Given the description of an element on the screen output the (x, y) to click on. 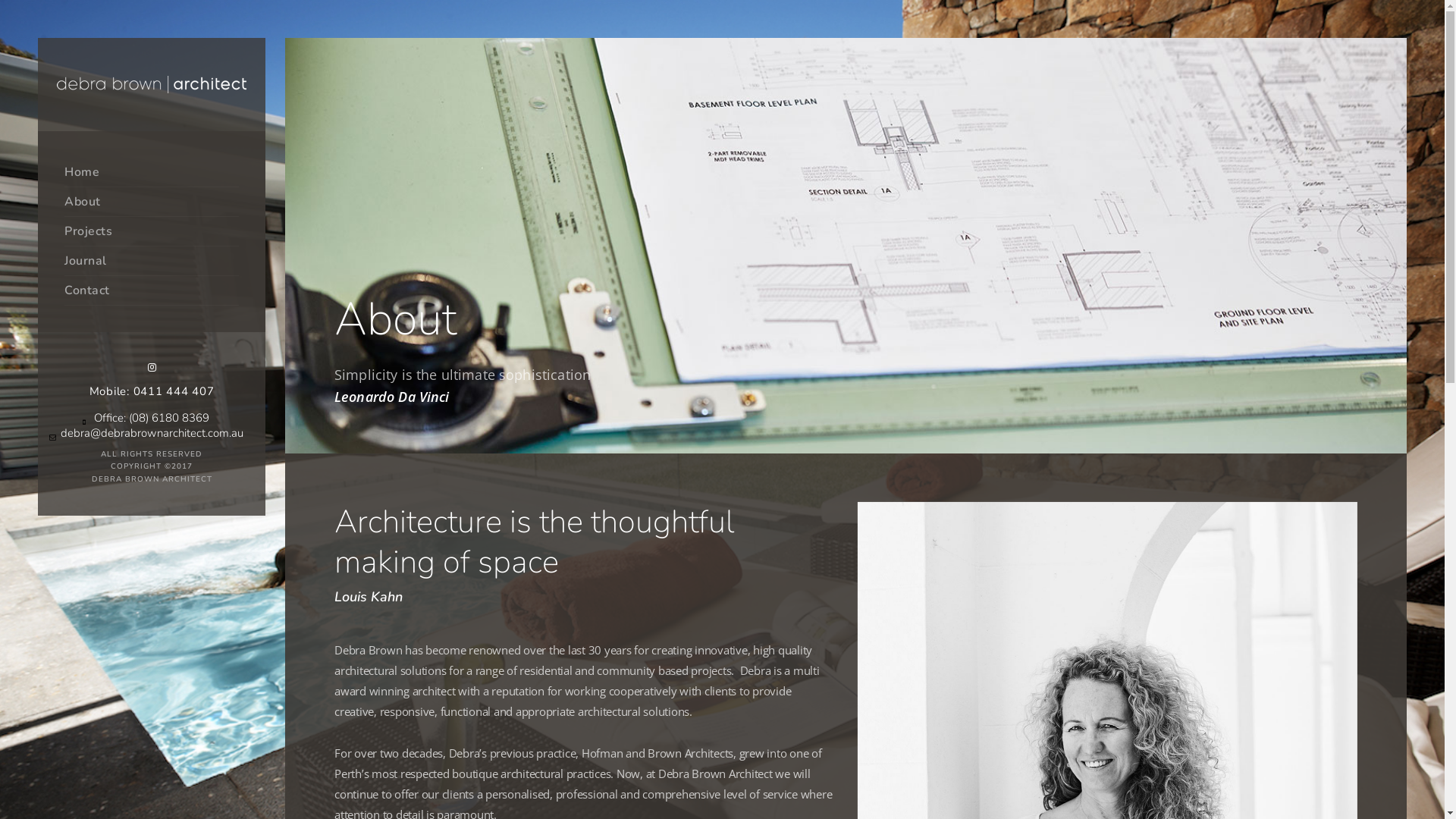
Contact Element type: text (151, 290)
Instagram Element type: hover (151, 367)
Office: (08) 6180 8369 Element type: text (151, 417)
About Element type: text (151, 201)
debra@debrabrownarchitect.com.au Element type: text (151, 432)
Journal Element type: text (151, 261)
Projects Element type: text (151, 231)
Mobile: 0411 444 407 Element type: text (151, 390)
Home Element type: text (151, 172)
